Given the description of an element on the screen output the (x, y) to click on. 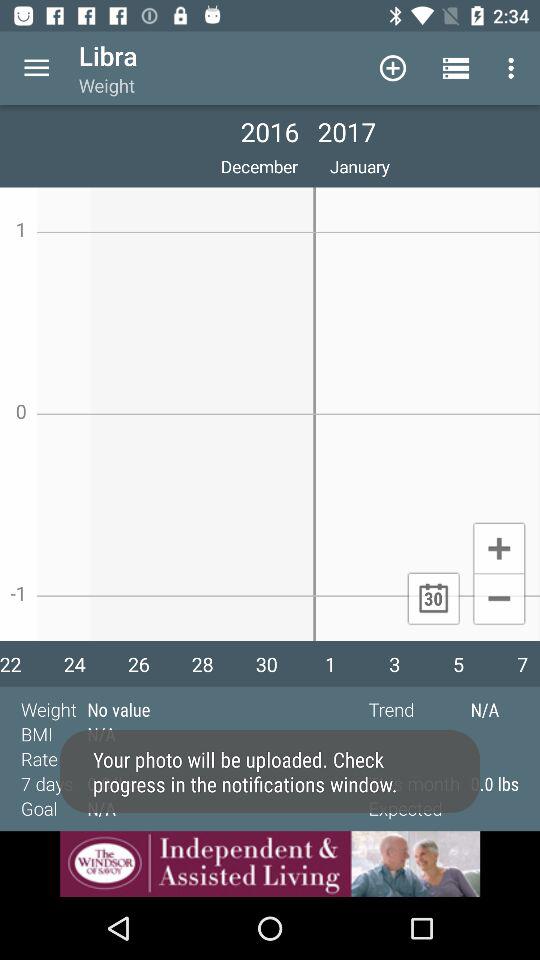
advertisement (270, 864)
